Given the description of an element on the screen output the (x, y) to click on. 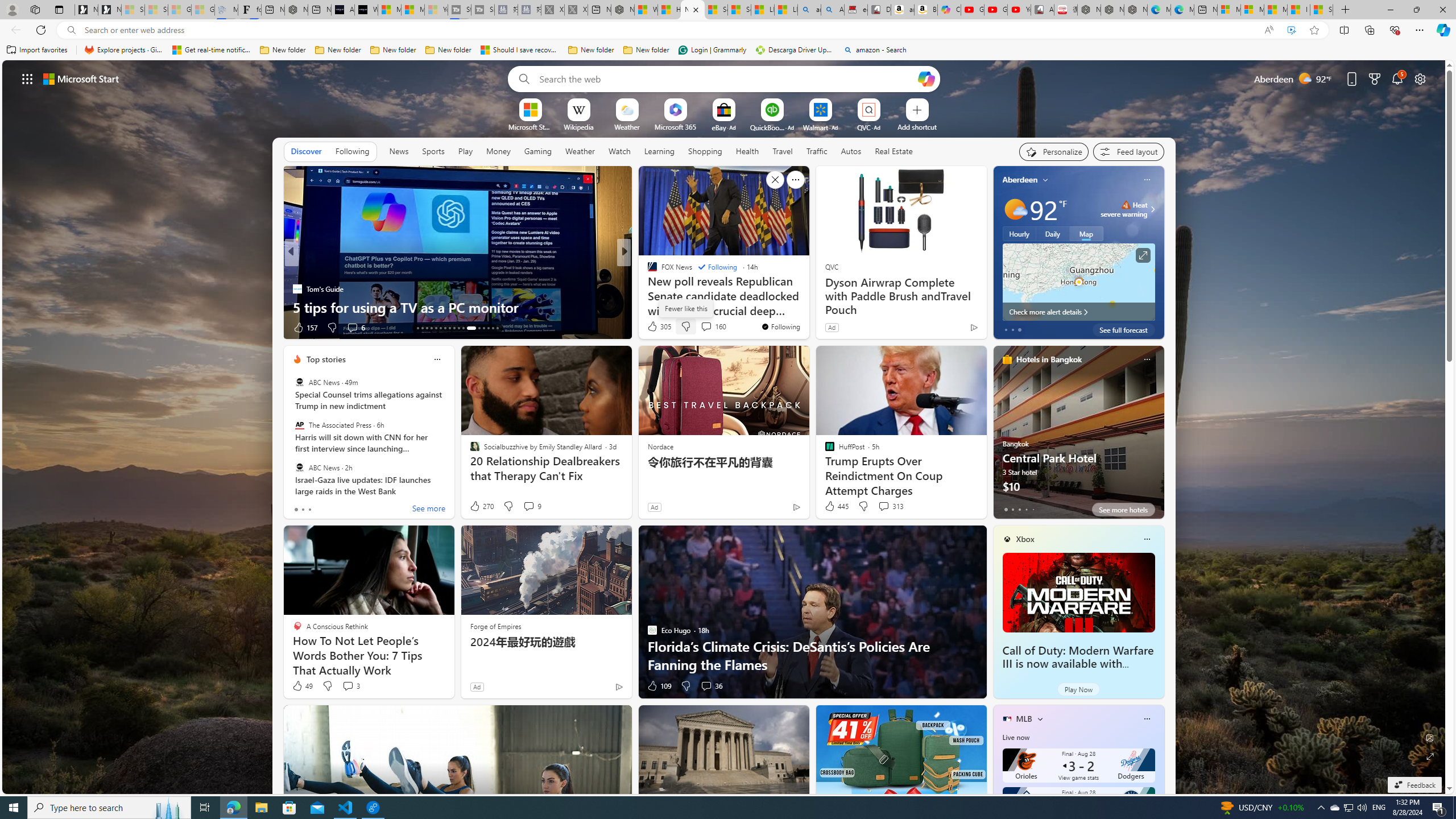
See full forecast (1123, 329)
Microsoft 365 (675, 126)
AutomationID: tab-14 (422, 328)
New folder (646, 49)
Dyson Airwrap Complete with Paddle Brush andTravel Pouch (900, 296)
Search (520, 78)
Play Now (1078, 689)
Login | Grammarly (712, 49)
Ad Choice (619, 686)
View comments 1k Comment (703, 327)
amazon - Search (809, 9)
Following (352, 151)
AutomationID: tab-40 (483, 328)
